Given the description of an element on the screen output the (x, y) to click on. 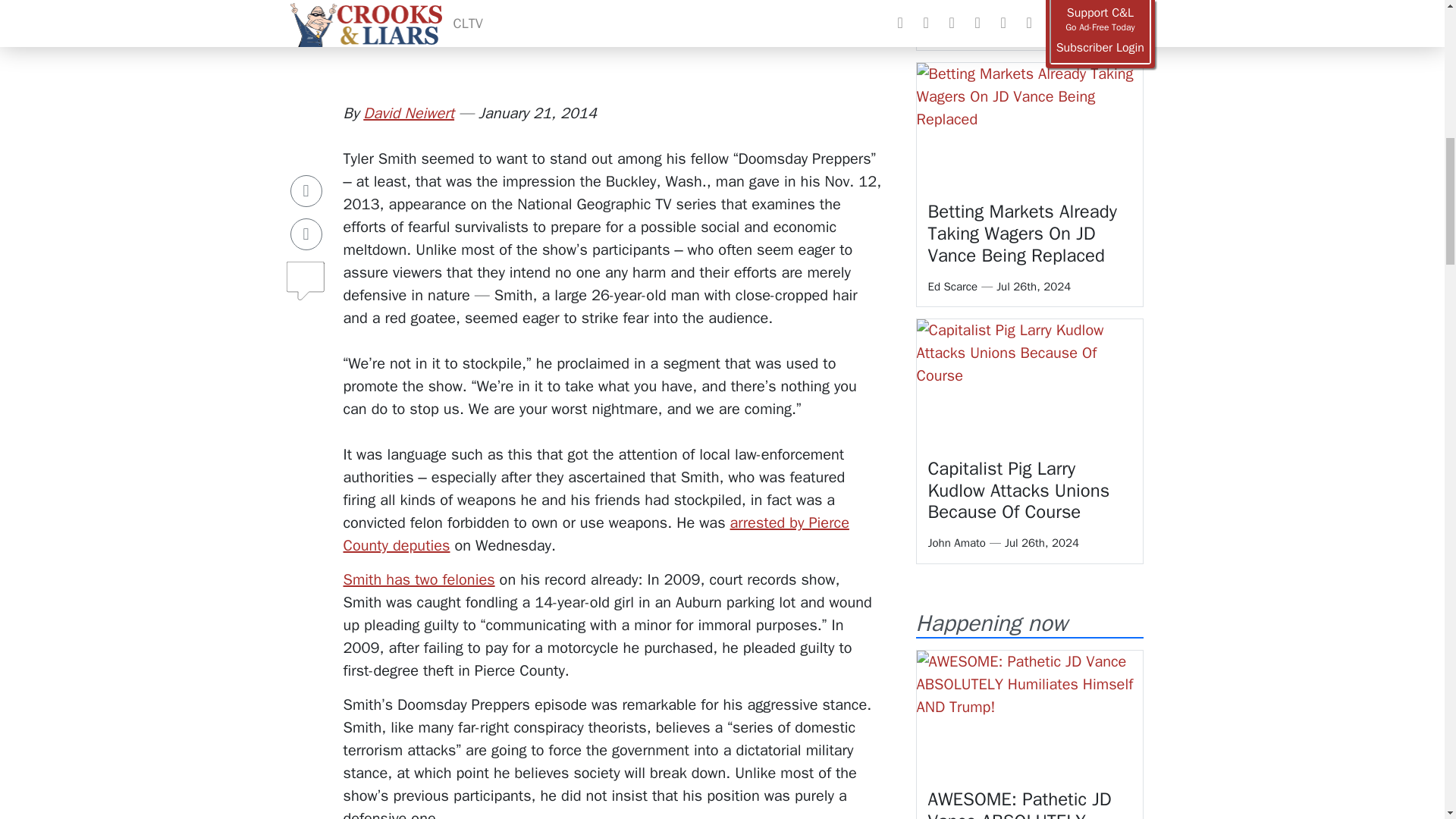
Comments (306, 224)
Join in the discussion (306, 233)
Share on Facebook (306, 141)
David Neiwert (408, 113)
David Neiwert (408, 113)
Share on Twitter (306, 183)
Smith has two felonies (418, 579)
arrested by Pierce County deputies (595, 534)
